Given the description of an element on the screen output the (x, y) to click on. 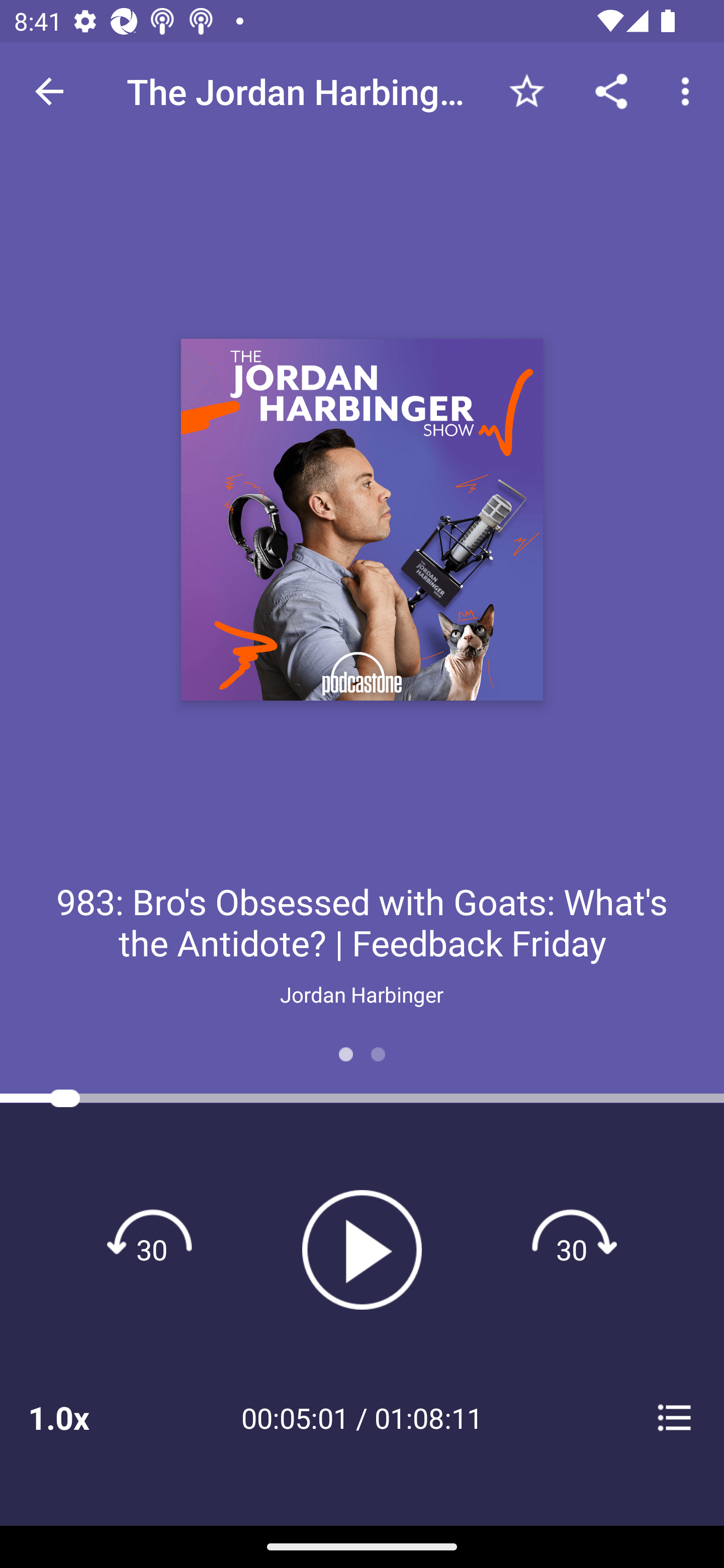
Navigate up (49, 91)
Add to Favorites (526, 90)
Share... (611, 90)
More options (688, 90)
Jordan Harbinger (361, 994)
Play (361, 1249)
Rewind (151, 1249)
Fast forward (571, 1249)
1.0x Playback Speeds (84, 1417)
01:08:11 (428, 1417)
